Given the description of an element on the screen output the (x, y) to click on. 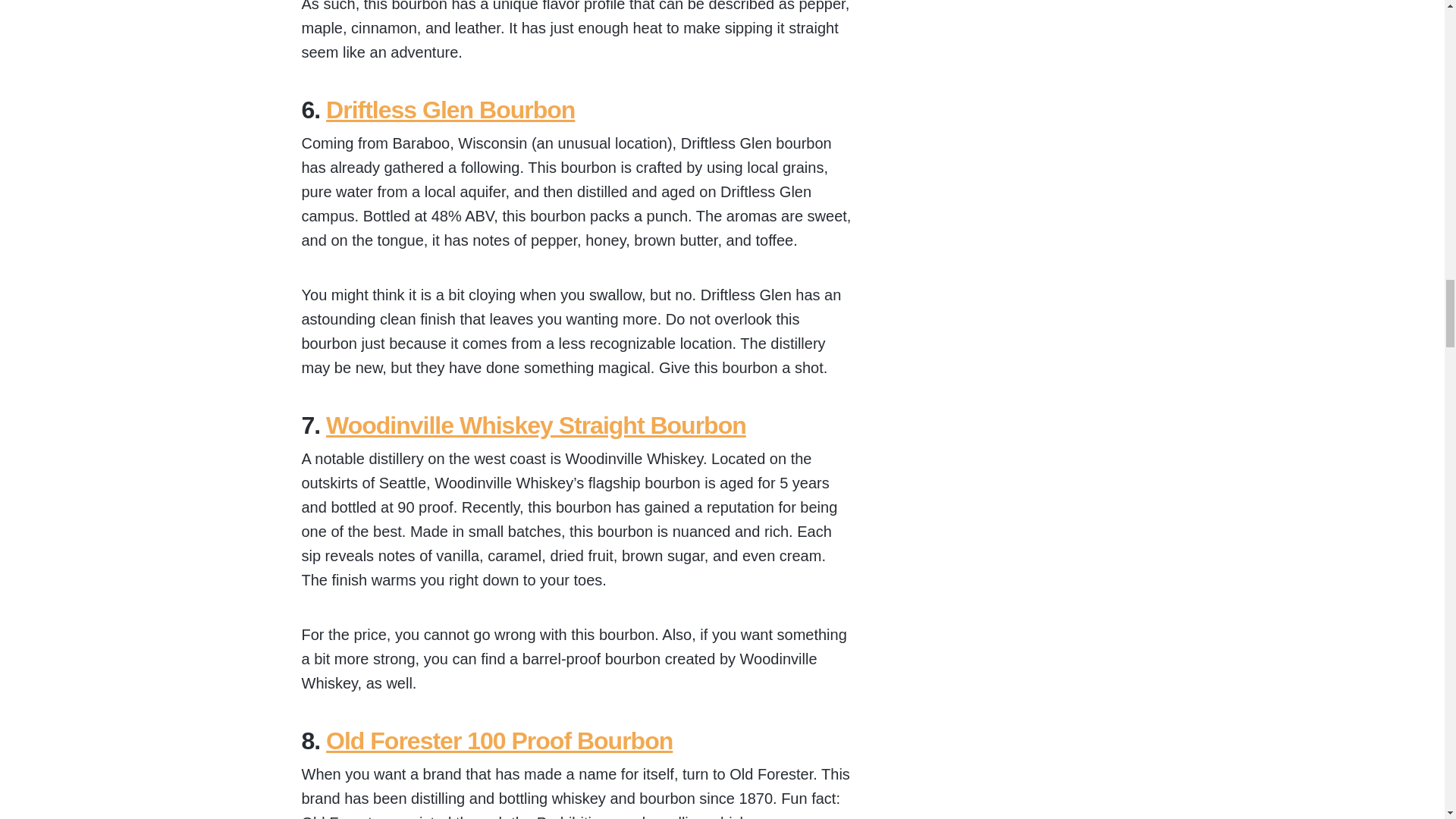
Woodinville Whiskey Straight Bourbon (535, 424)
Driftless Glen Bourbon (450, 109)
Old Forester 100 Proof Bourbon (499, 740)
